Given the description of an element on the screen output the (x, y) to click on. 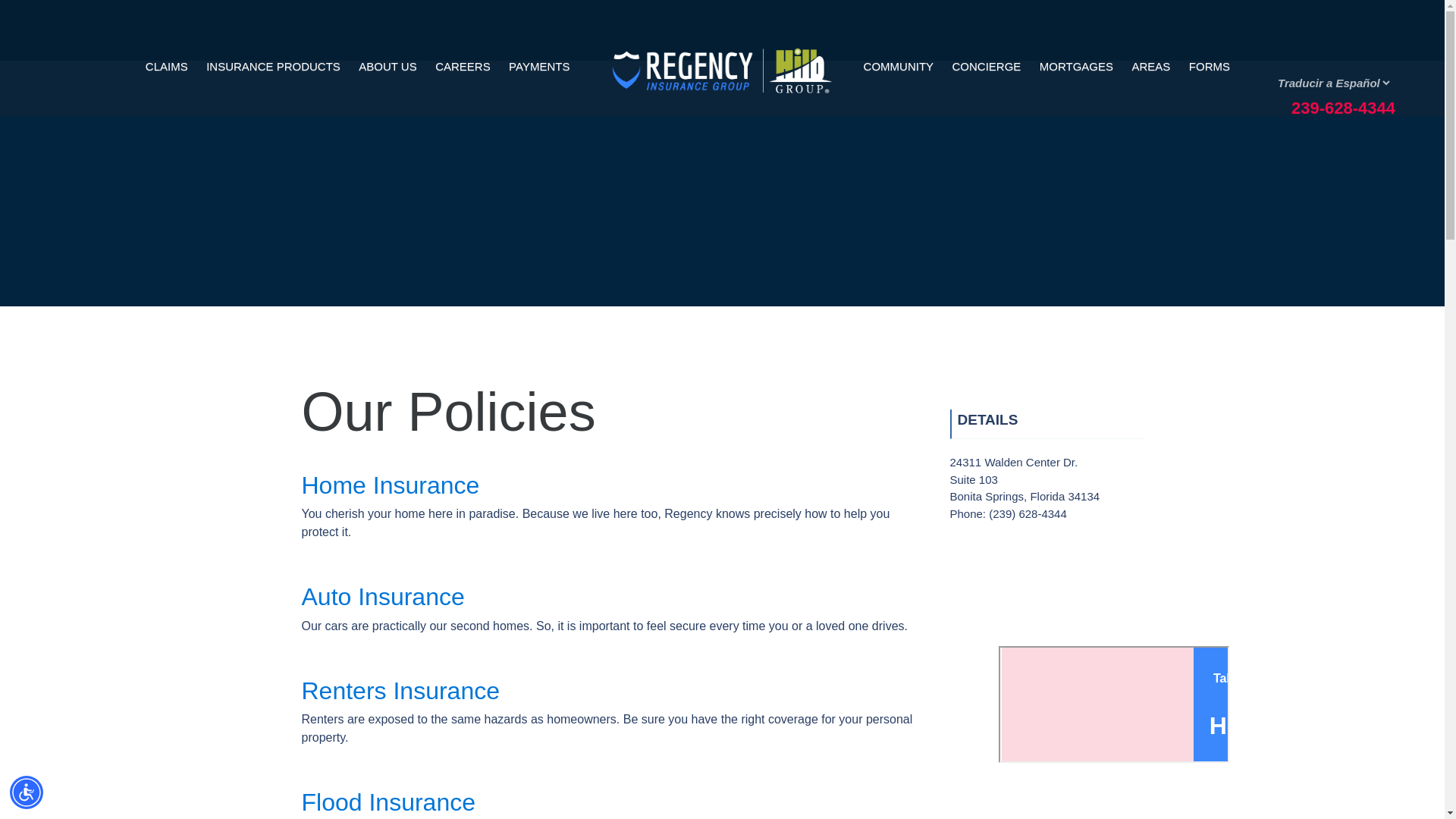
CONCIERGE (986, 66)
AREAS (1150, 66)
PAYMENTS (538, 66)
MORTGAGES (1076, 66)
CAREERS (462, 66)
INSURANCE PRODUCTS (272, 66)
Accessibility Menu (26, 792)
ABOUT US (386, 66)
CLAIMS (166, 66)
COMMUNITY (899, 66)
